Given the description of an element on the screen output the (x, y) to click on. 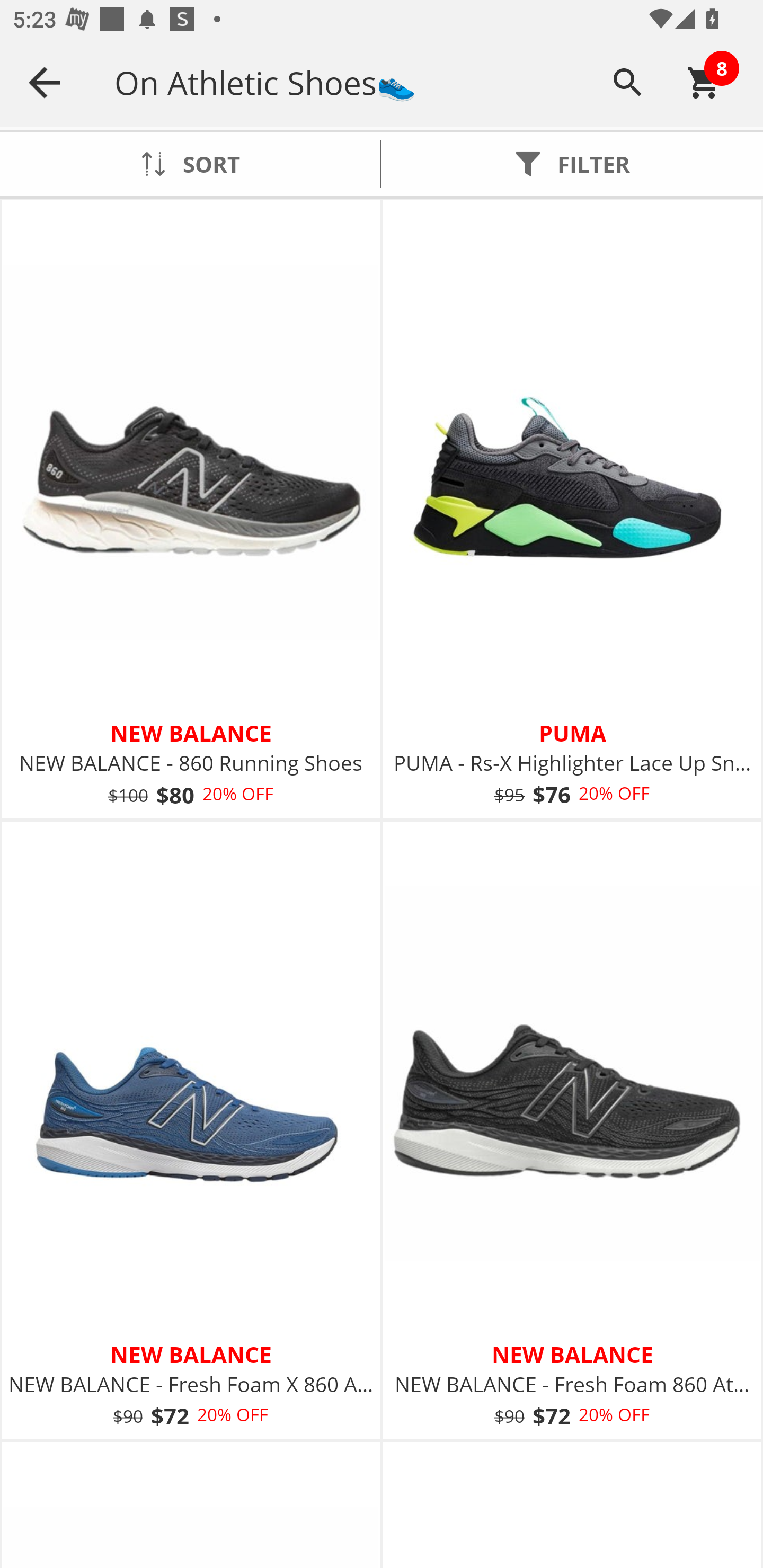
Navigate up (44, 82)
SORT (190, 163)
FILTER (572, 163)
